Given the description of an element on the screen output the (x, y) to click on. 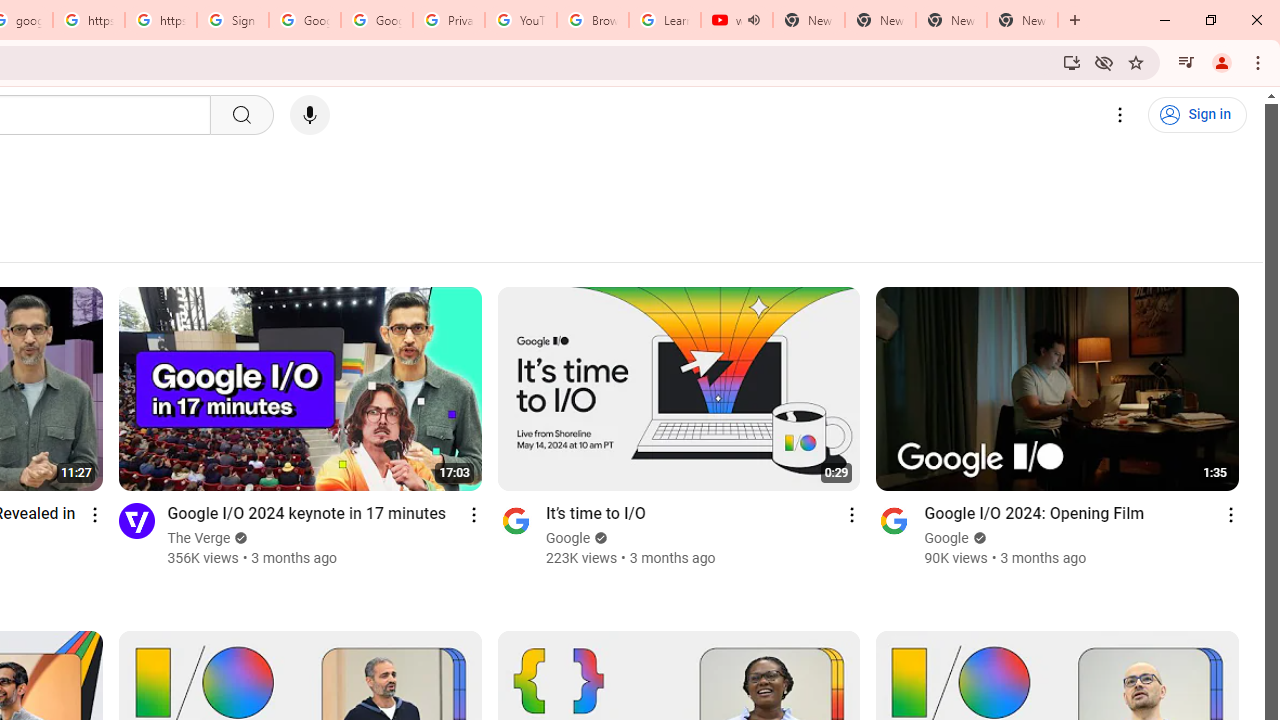
Third-party cookies blocked (1103, 62)
Settings (1119, 115)
Mute tab (753, 20)
Install YouTube (1071, 62)
Verified (976, 538)
Search (240, 115)
New Tab (1022, 20)
https://scholar.google.com/ (161, 20)
